Given the description of an element on the screen output the (x, y) to click on. 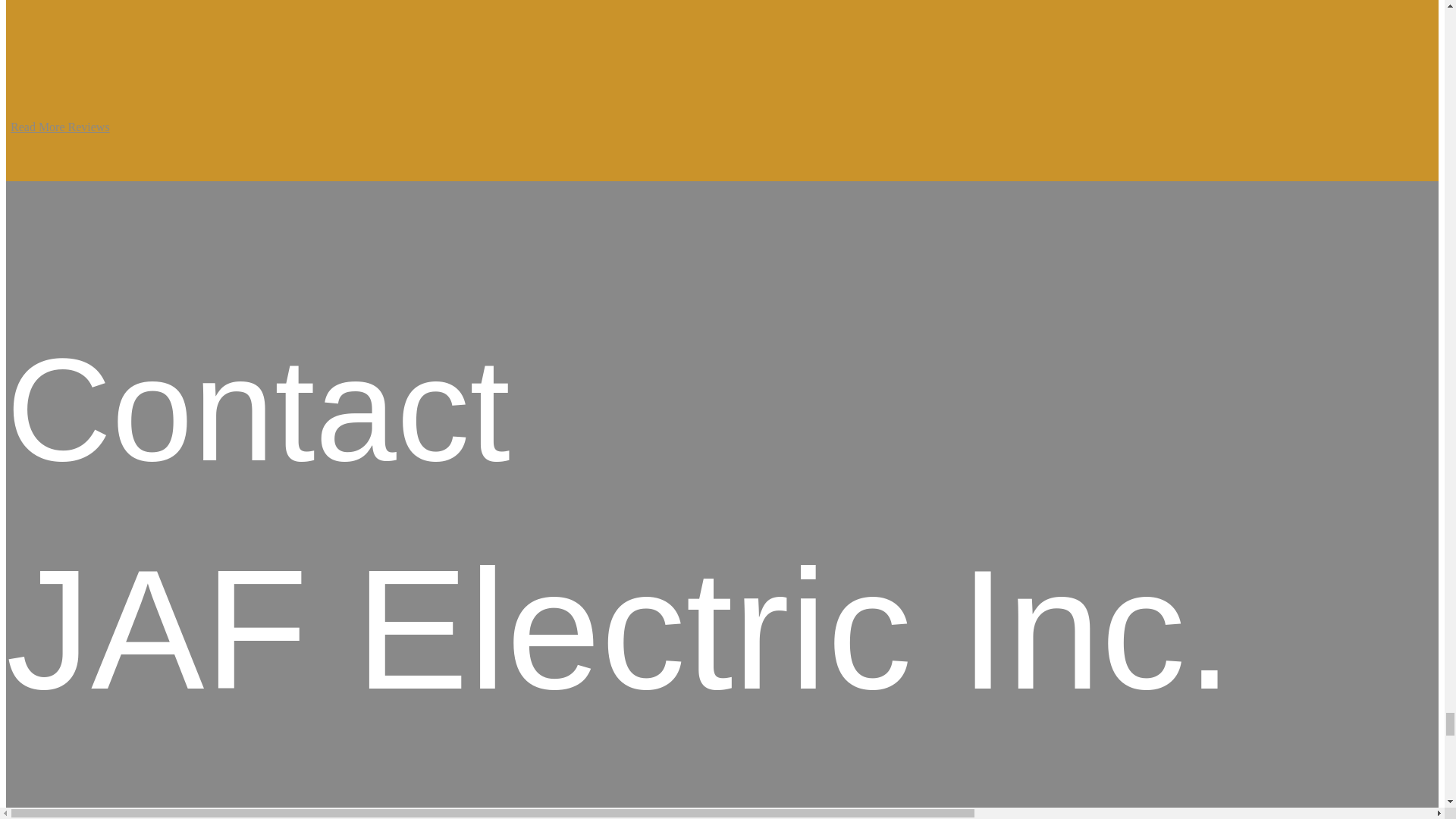
Read More Reviews (173, 126)
